Given the description of an element on the screen output the (x, y) to click on. 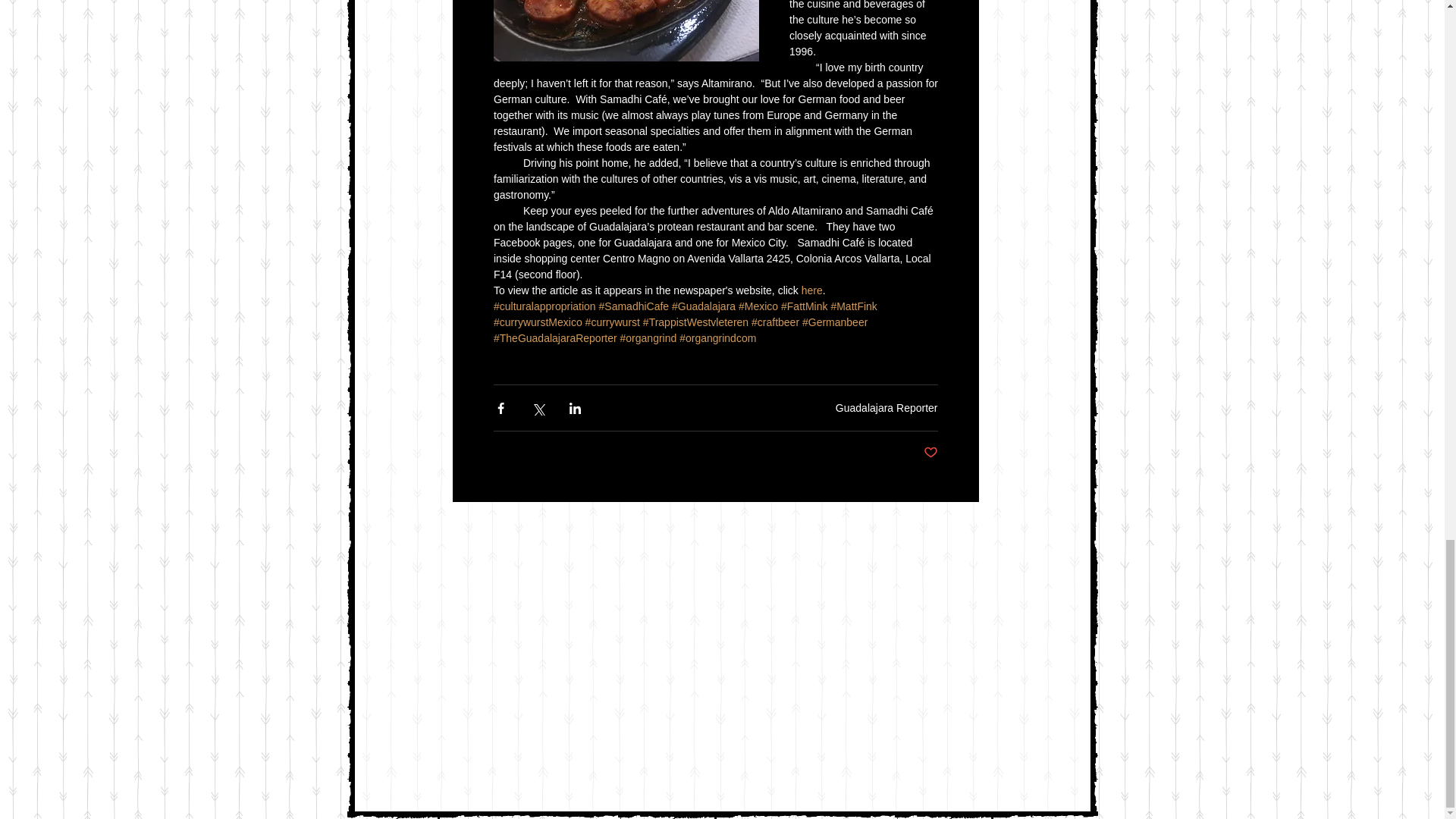
Guadalajara Reporter (886, 408)
Post not marked as liked (930, 453)
here (811, 290)
